Given the description of an element on the screen output the (x, y) to click on. 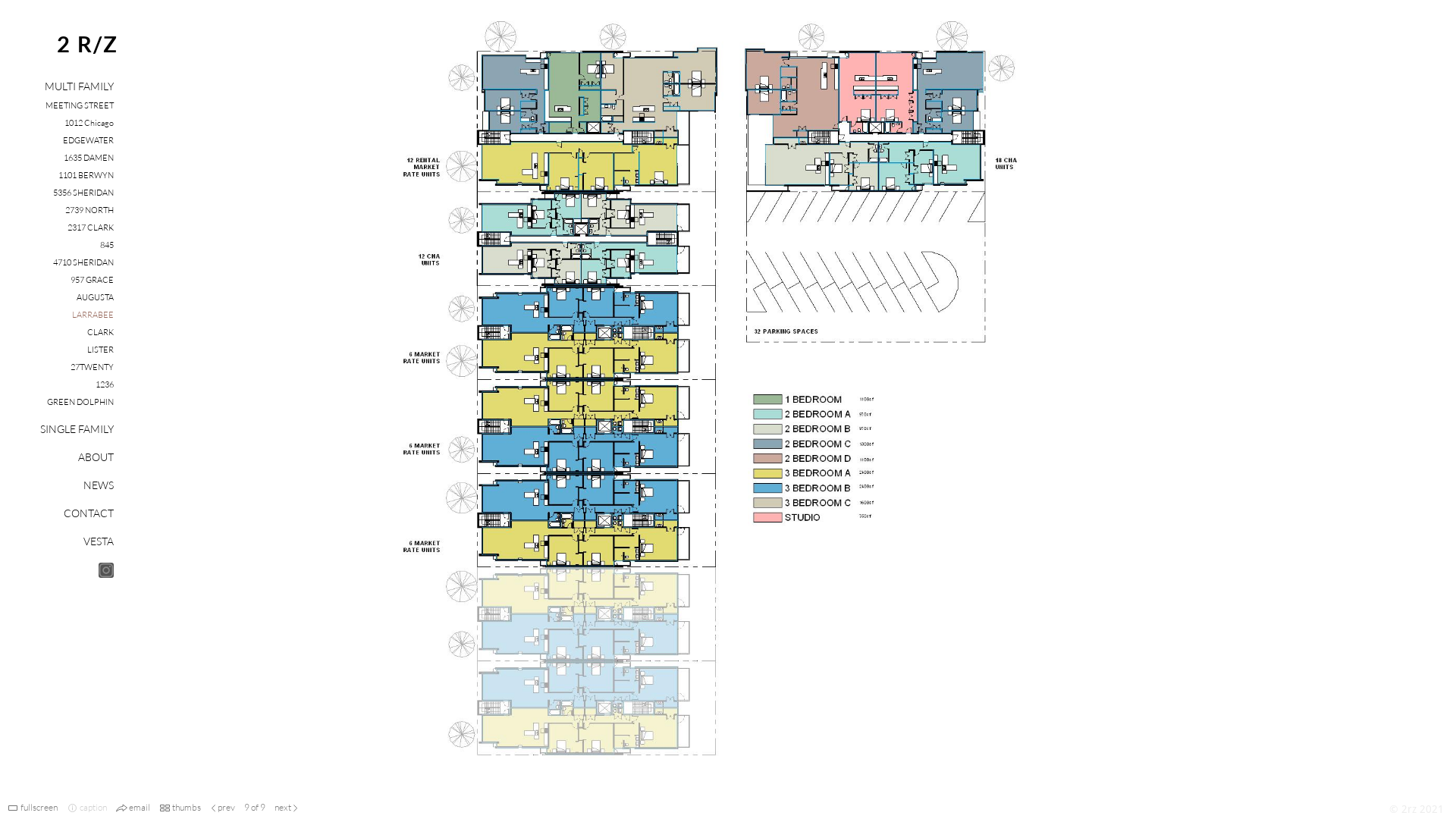
thumbs Element type: text (186, 806)
GREEN DOLPHIN Element type: text (80, 401)
4710 SHERIDAN Element type: text (83, 262)
9 of 9 Element type: text (254, 806)
VESTA Element type: text (98, 540)
email Element type: text (139, 806)
MEETING STREET Element type: text (79, 105)
caption Element type: text (92, 806)
ABOUT Element type: text (95, 456)
5356 SHERIDAN Element type: text (83, 192)
845 Element type: text (106, 244)
next Element type: text (282, 806)
CLARK Element type: text (100, 331)
AUGUSTA Element type: text (94, 296)
fullscreen Element type: text (38, 806)
LARRABEE Element type: text (92, 314)
1101 BERWYN Element type: text (85, 174)
SINGLE FAMILY Element type: text (76, 428)
1635 DAMEN Element type: text (88, 157)
LISTER Element type: text (100, 349)
CONTACT Element type: text (88, 512)
1012 Chicago Element type: text (88, 122)
2317 CLARK Element type: text (90, 227)
prev Element type: text (226, 806)
27TWENTY Element type: text (91, 366)
EDGEWATER Element type: text (87, 139)
2739 NORTH Element type: text (89, 209)
MULTI FAMILY Element type: text (78, 85)
1236 Element type: text (104, 384)
957 GRACE Element type: text (91, 279)
NEWS Element type: text (98, 484)
